Given the description of an element on the screen output the (x, y) to click on. 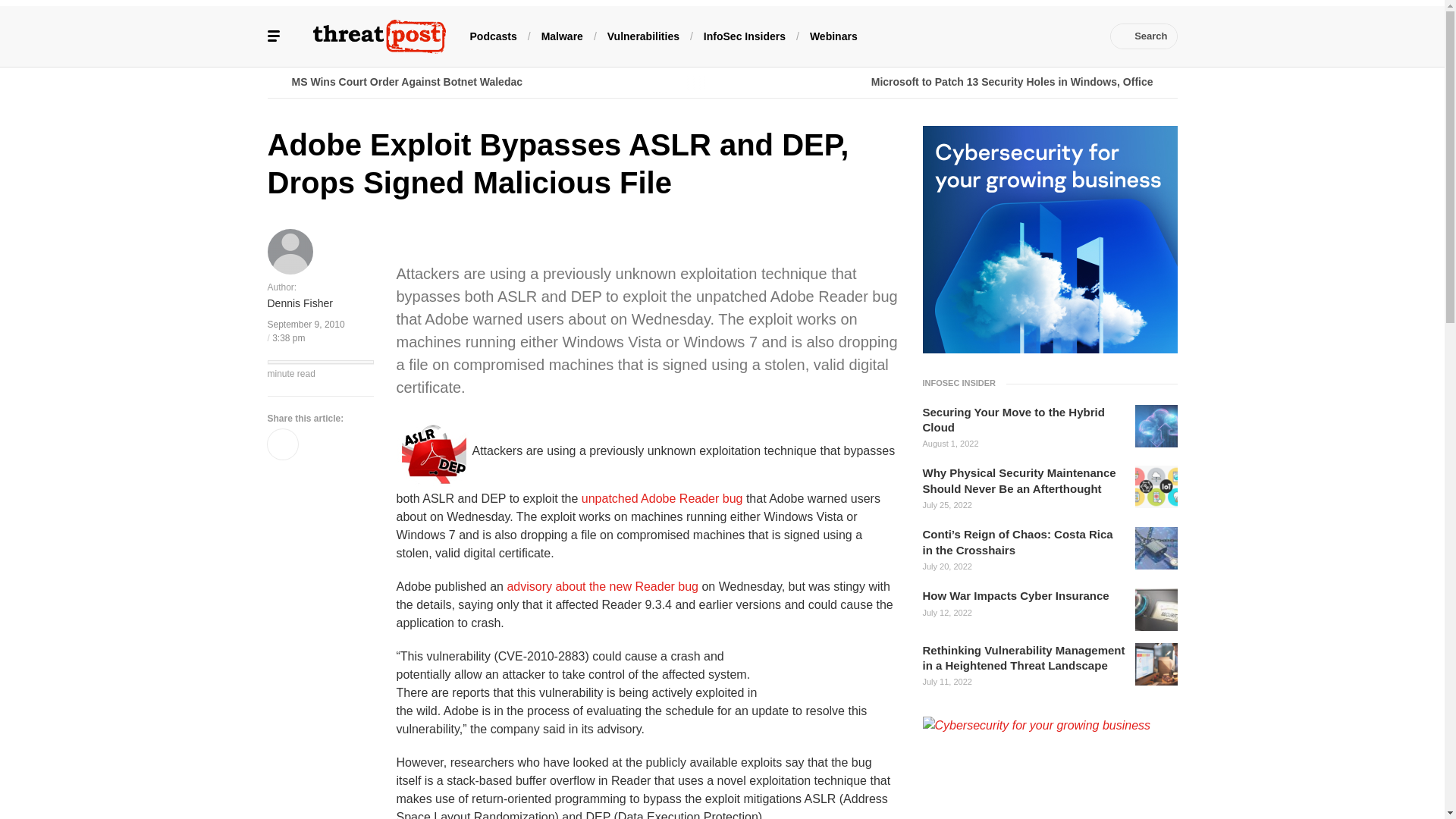
Facebook (944, 36)
InfoSec Insiders (744, 35)
advisory about the new Reader bug (602, 585)
Threatpost (379, 36)
YouTube (1012, 36)
Vulnerabilities (643, 35)
Twitter (966, 36)
unpatched Adobe Reader bug (661, 497)
RSS (1080, 36)
LinkedIn (989, 36)
